Given the description of an element on the screen output the (x, y) to click on. 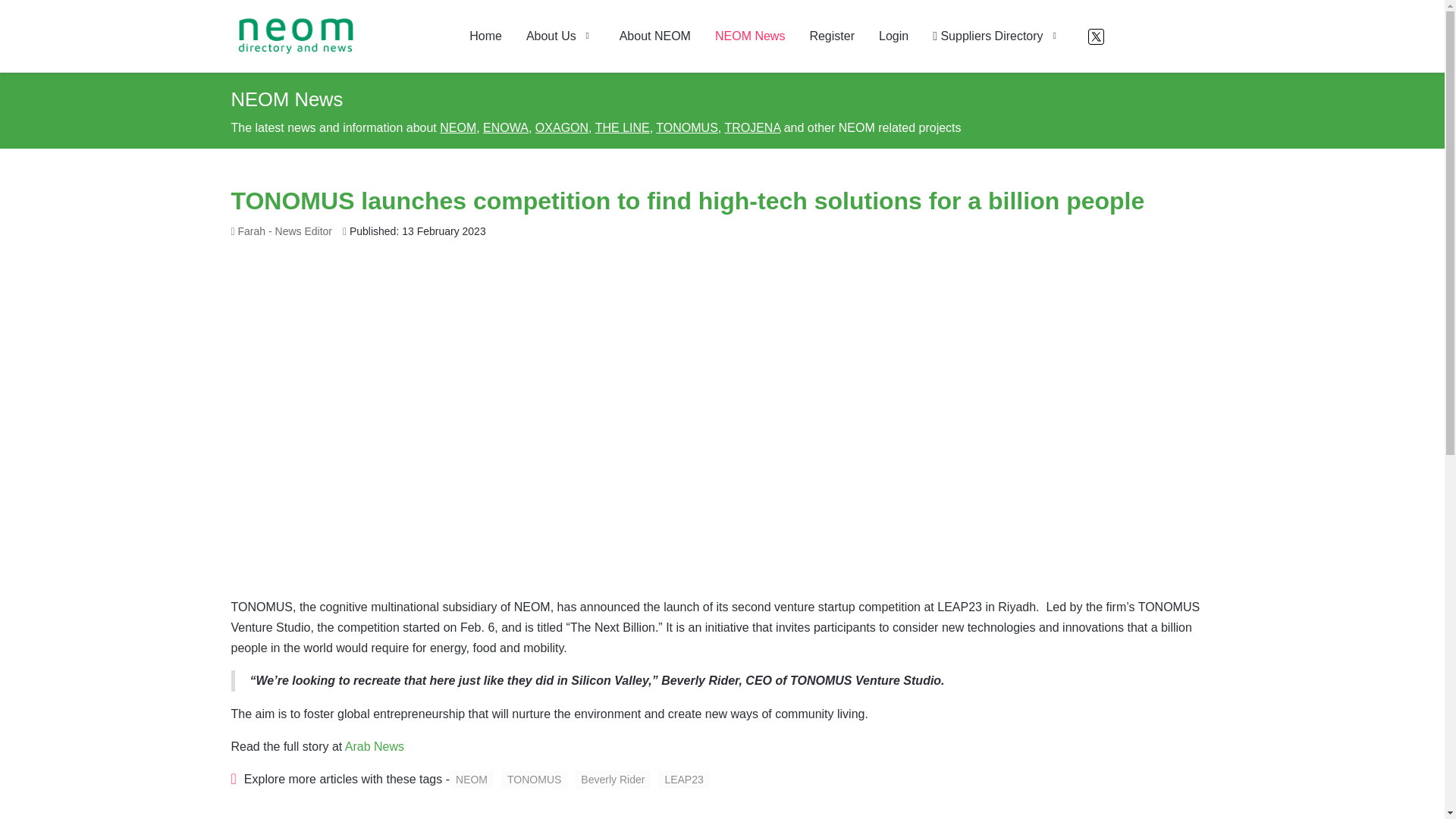
About NEOM (655, 35)
Home (485, 35)
Register (831, 35)
NEOM News (749, 35)
About Us (560, 35)
Suppliers Directory (997, 35)
Home (485, 35)
Login (893, 35)
About Us (560, 35)
